Given the description of an element on the screen output the (x, y) to click on. 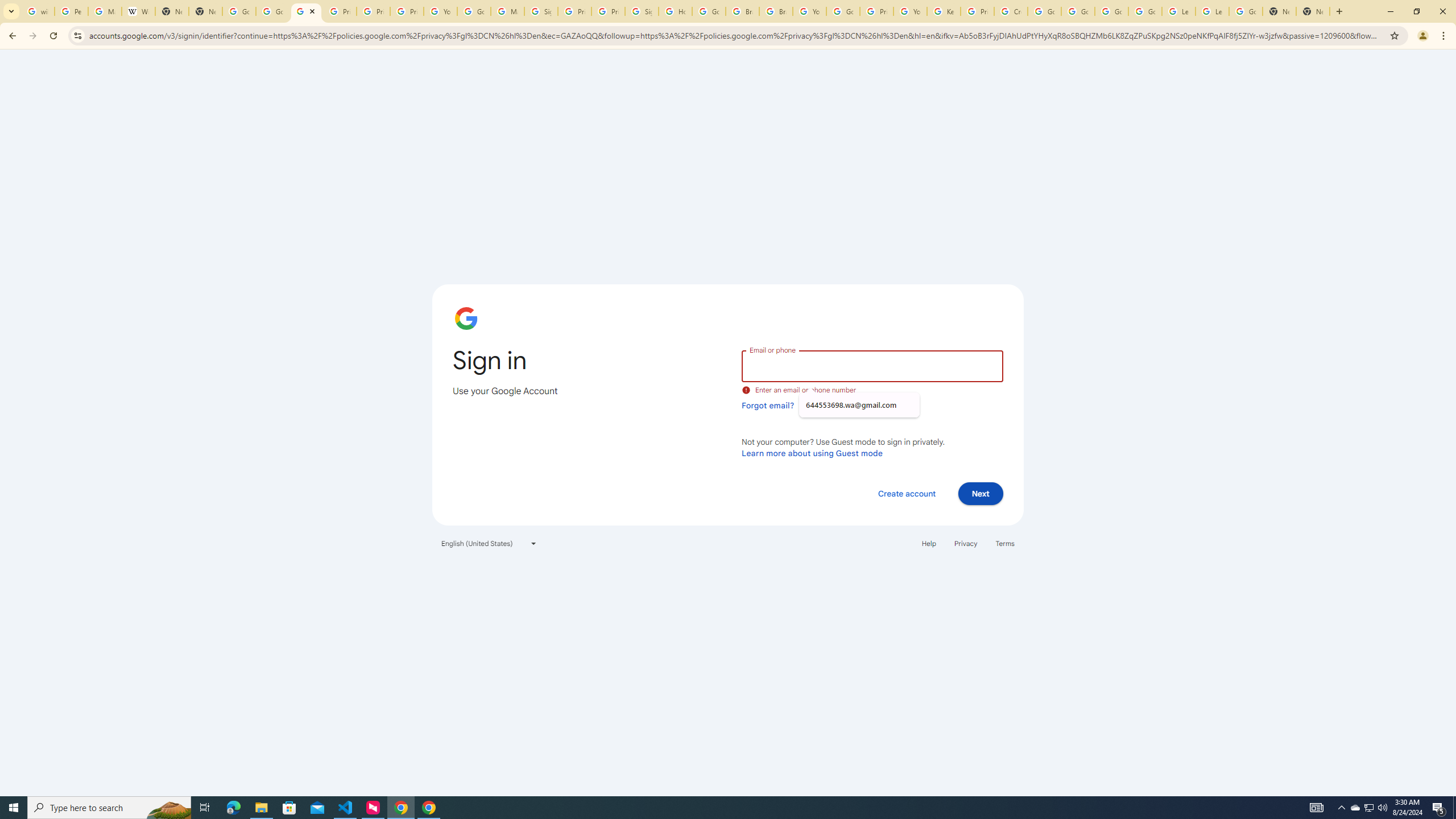
YouTube (809, 11)
Google Account Help (1043, 11)
Wikipedia:Edit requests - Wikipedia (138, 11)
Google Account (1246, 11)
644553698.wa@gmail.com (858, 404)
Google Account Help (474, 11)
English (United States) (489, 542)
New Tab (1279, 11)
